Given the description of an element on the screen output the (x, y) to click on. 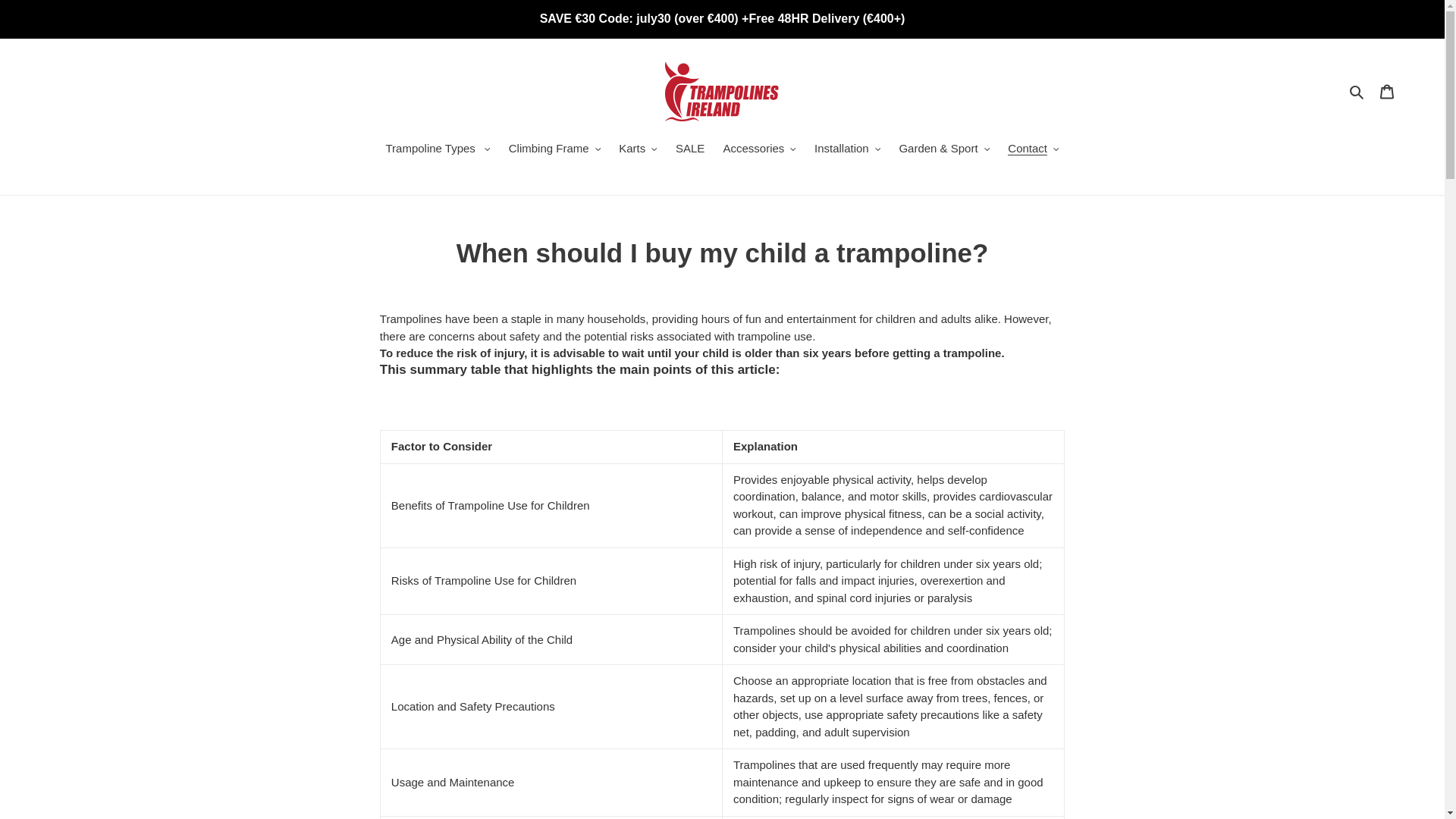
Cart (1387, 91)
Search (1357, 90)
